Given the description of an element on the screen output the (x, y) to click on. 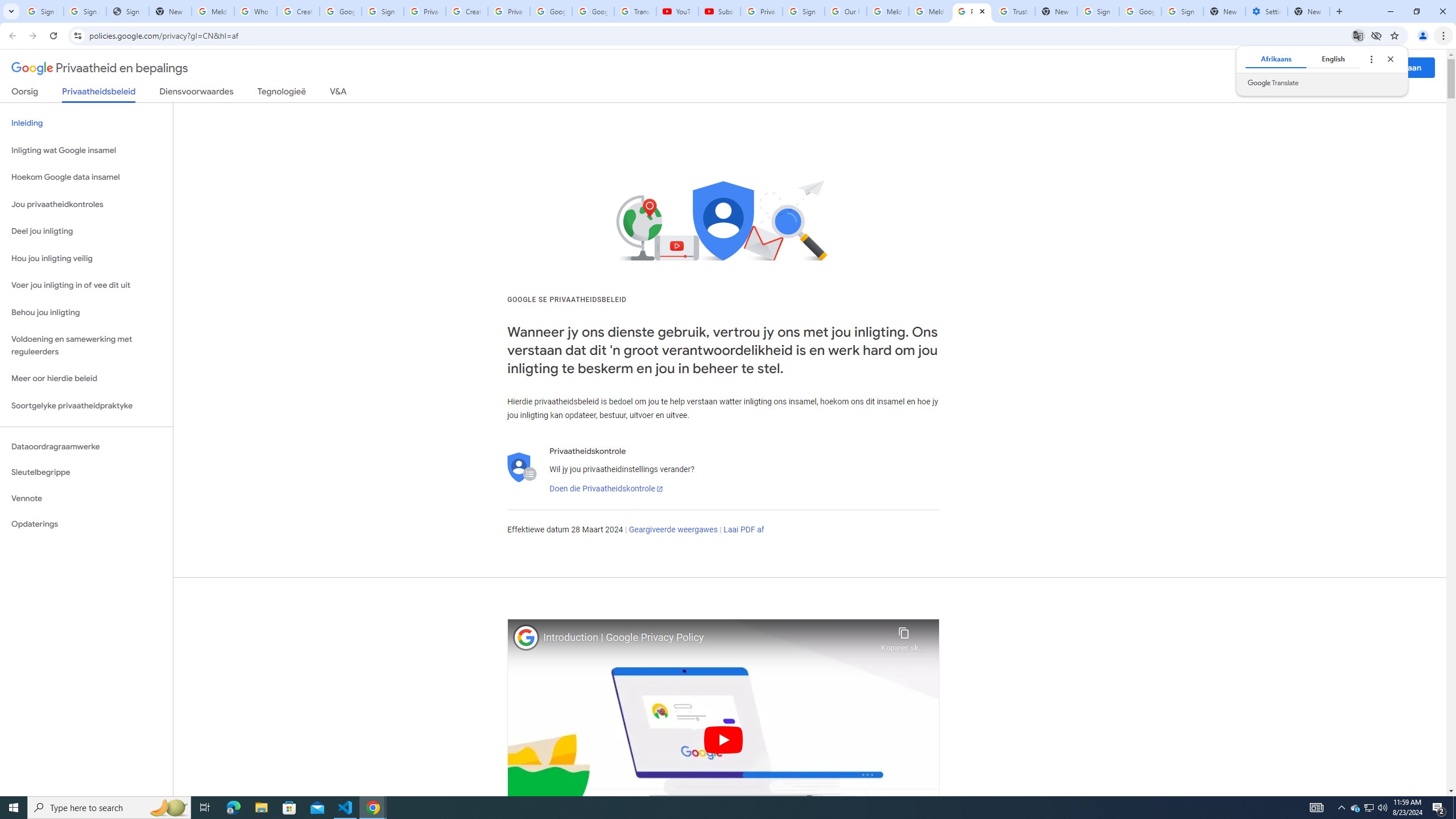
Meer oor hierdie beleid (86, 379)
Fotobeeld van Google (526, 636)
Meld aan (1404, 67)
Hoekom Google data insamel (86, 176)
Google Cybersecurity Innovations - Google Safety Center (1139, 11)
Google-programme (1355, 67)
New Tab (1308, 11)
Create your Google Account (467, 11)
Sleutelbegrippe (86, 472)
English (1332, 58)
Opdaterings (86, 524)
